Given the description of an element on the screen output the (x, y) to click on. 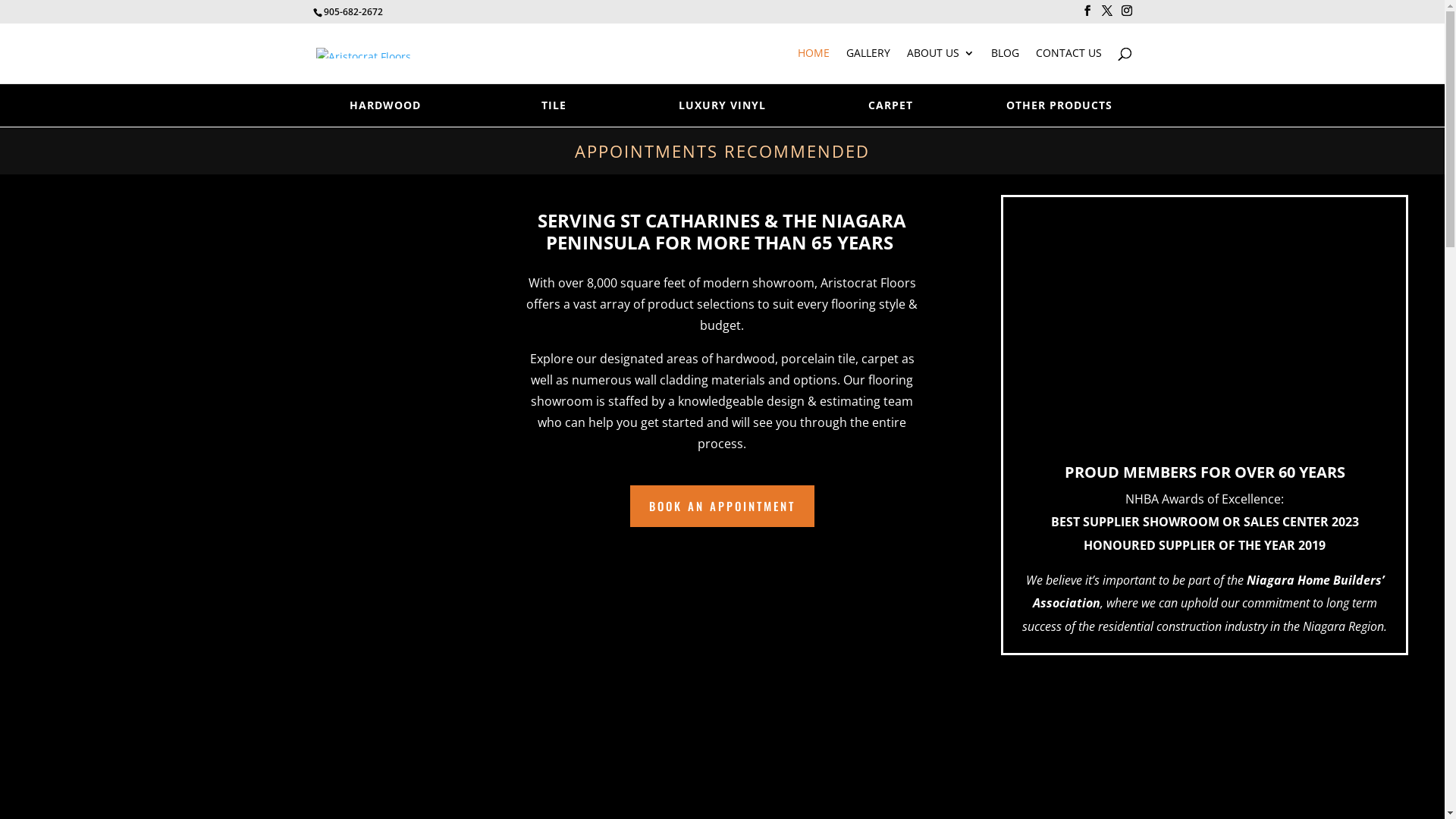
HARDWOOD Element type: text (384, 105)
HOME Element type: text (813, 65)
TILE Element type: text (553, 105)
GALLERY Element type: text (868, 65)
APPOINTMENTS RECOMMENDED Element type: text (721, 150)
CARPET Element type: text (891, 105)
BLOG Element type: text (1004, 65)
Hardwood Element type: hover (722, 285)
LUXURY VINYL Element type: text (721, 105)
ABOUT US Element type: text (940, 65)
CONTACT US Element type: text (1068, 65)
Aristocrat fAVICON Element type: hover (239, 332)
OTHER PRODUCTS Element type: text (1059, 105)
Aristocrat logo - web - rgb Element type: hover (236, 632)
BOOK AN APPOINTMENT Element type: text (722, 506)
